Given the description of an element on the screen output the (x, y) to click on. 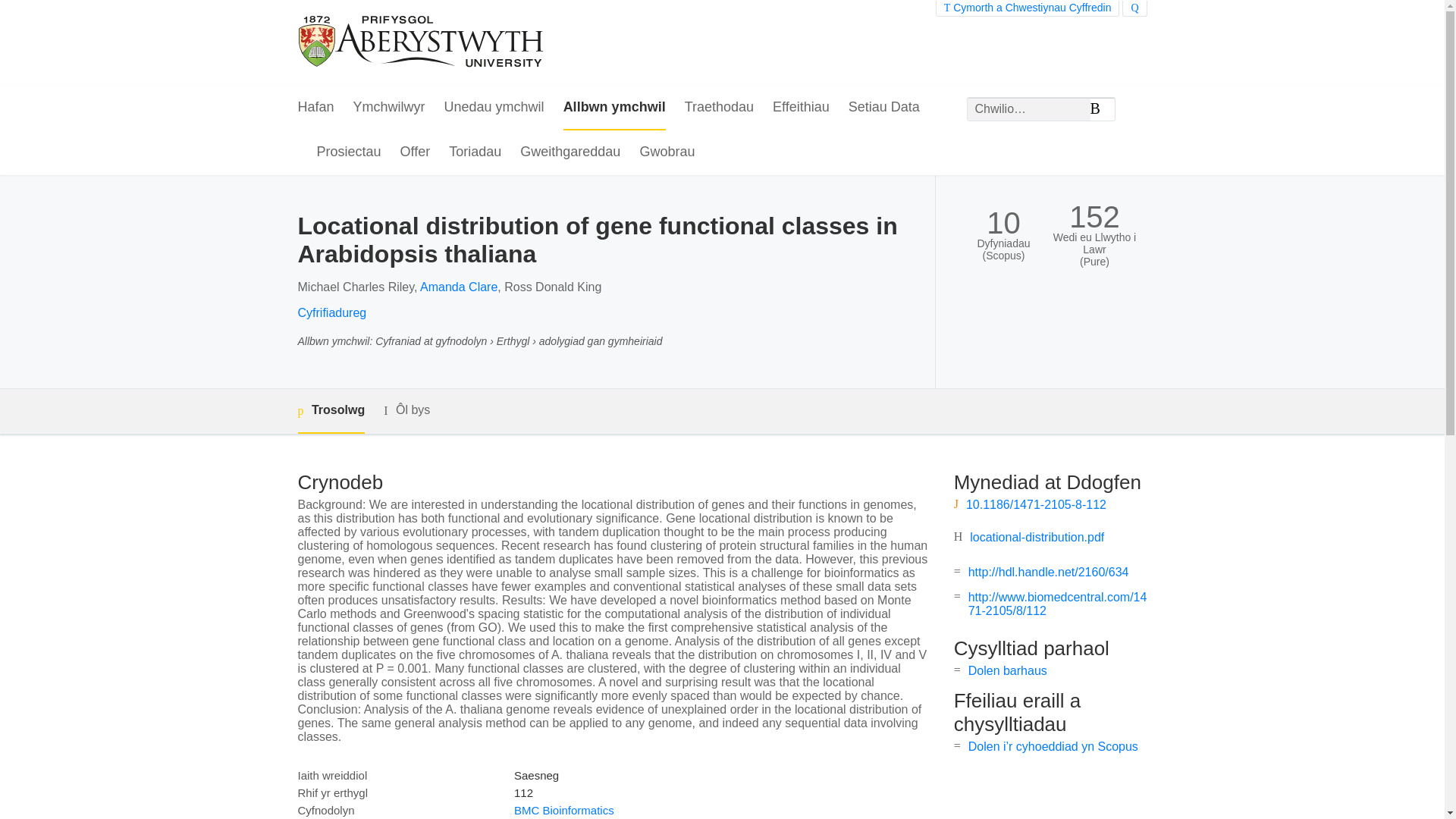
Toriadau (474, 152)
locational-distribution.pdf (1036, 536)
Trosolwg (331, 411)
Gweithgareddau (569, 152)
Porth Ymchwil Aberystwyth Hafan (422, 42)
Ymchwilwyr (389, 107)
Cymorth a Chwestiynau Cyffredin (1027, 7)
Prosiectau (349, 152)
Allbwn ymchwil (614, 107)
Amanda Clare (458, 286)
Dolen barhaus (1007, 670)
Gwobrau (666, 152)
BMC Bioinformatics (563, 809)
Unedau ymchwil (494, 107)
Cyfrifiadureg (331, 312)
